Given the description of an element on the screen output the (x, y) to click on. 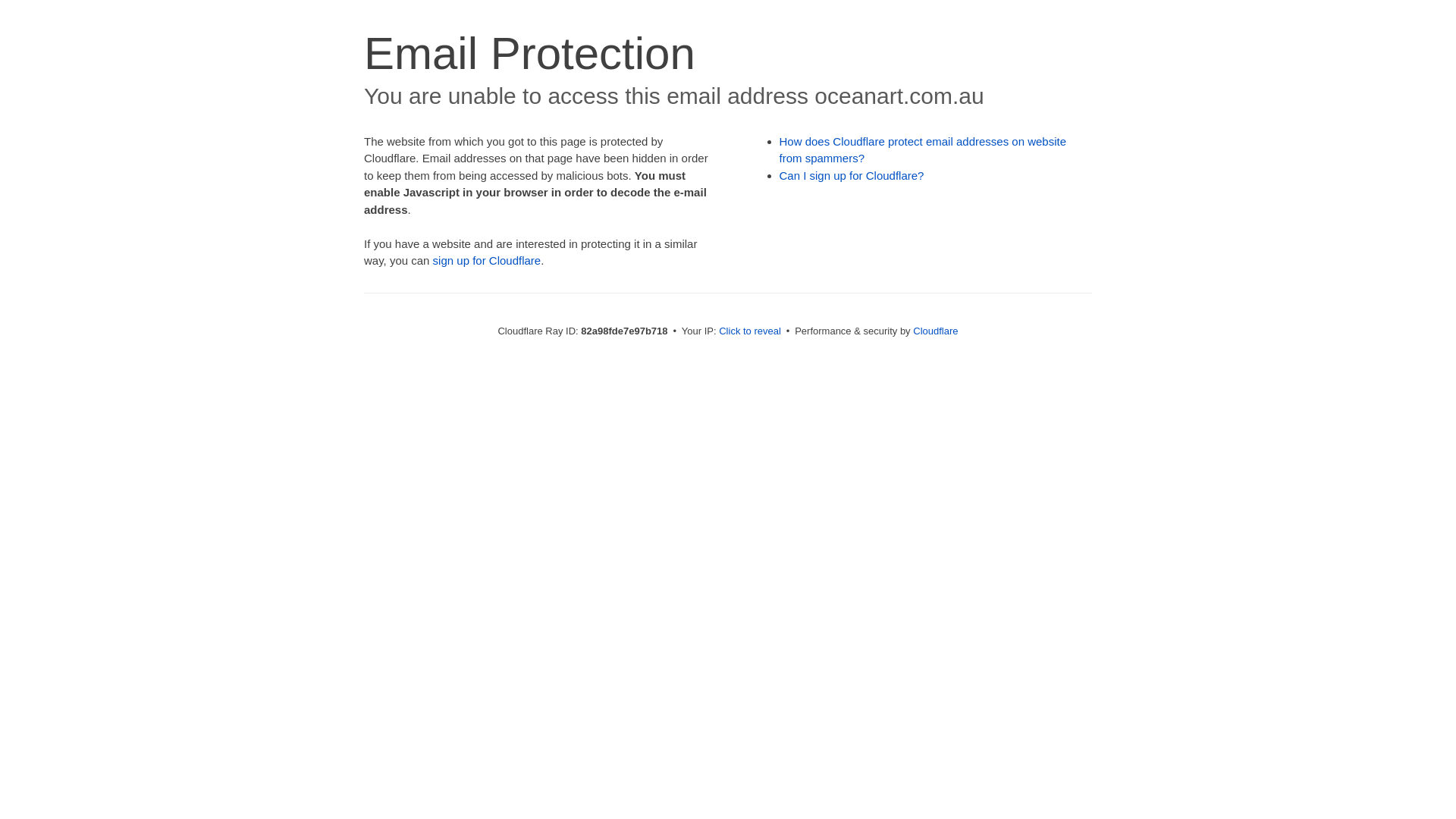
Can I sign up for Cloudflare? Element type: text (851, 175)
sign up for Cloudflare Element type: text (487, 260)
Cloudflare Element type: text (935, 330)
Click to reveal Element type: text (749, 330)
